Given the description of an element on the screen output the (x, y) to click on. 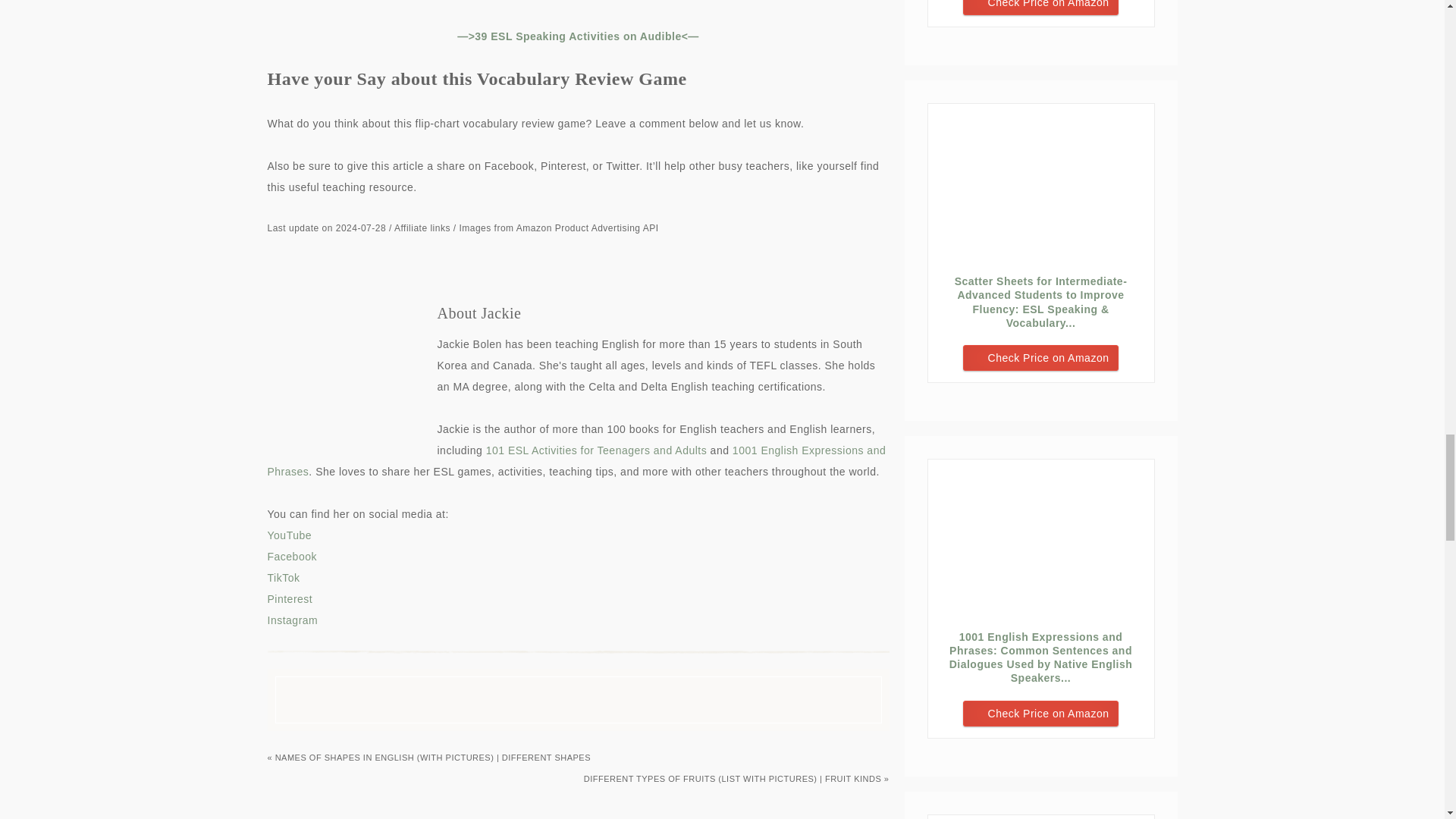
Facebook (290, 556)
TikTok (282, 577)
101 ESL Activities for Teenagers and Adults (598, 450)
Instagram (291, 620)
Pinterest (289, 598)
YouTube (288, 535)
1001 English Expressions and Phrases (575, 460)
